Given the description of an element on the screen output the (x, y) to click on. 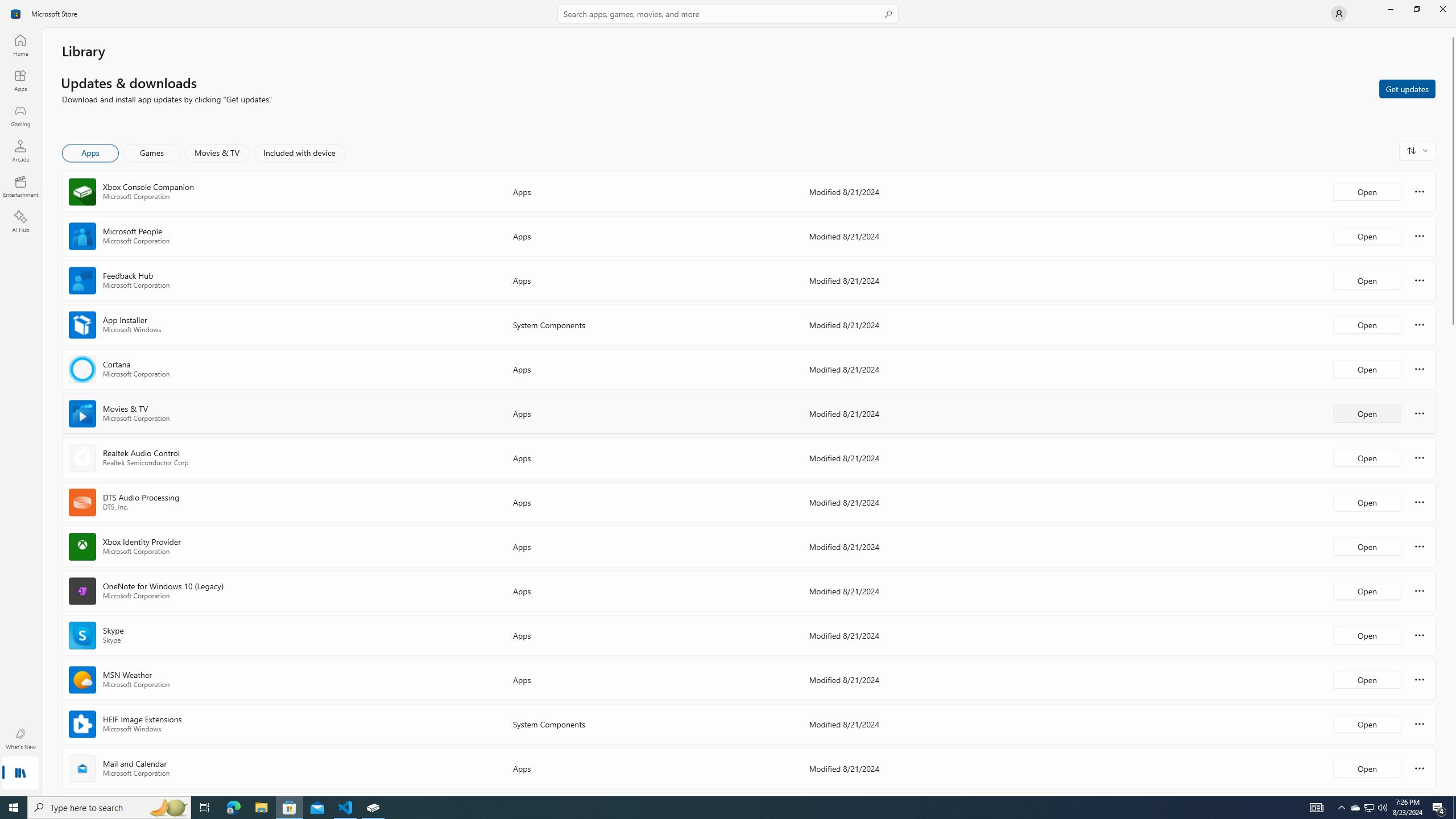
Search (727, 13)
Movies & TV (216, 153)
Restore Microsoft Store (1416, 9)
More options (1419, 768)
Minimize Microsoft Store (1390, 9)
Vertical Small Increase (1452, 792)
Vertical Large Increase (1452, 557)
Vertical Small Decrease (1452, 31)
Gaming (20, 115)
AI Hub (20, 221)
Close Microsoft Store (1442, 9)
Open (1366, 768)
Vertical (1452, 412)
Home (20, 45)
Arcade (20, 150)
